Given the description of an element on the screen output the (x, y) to click on. 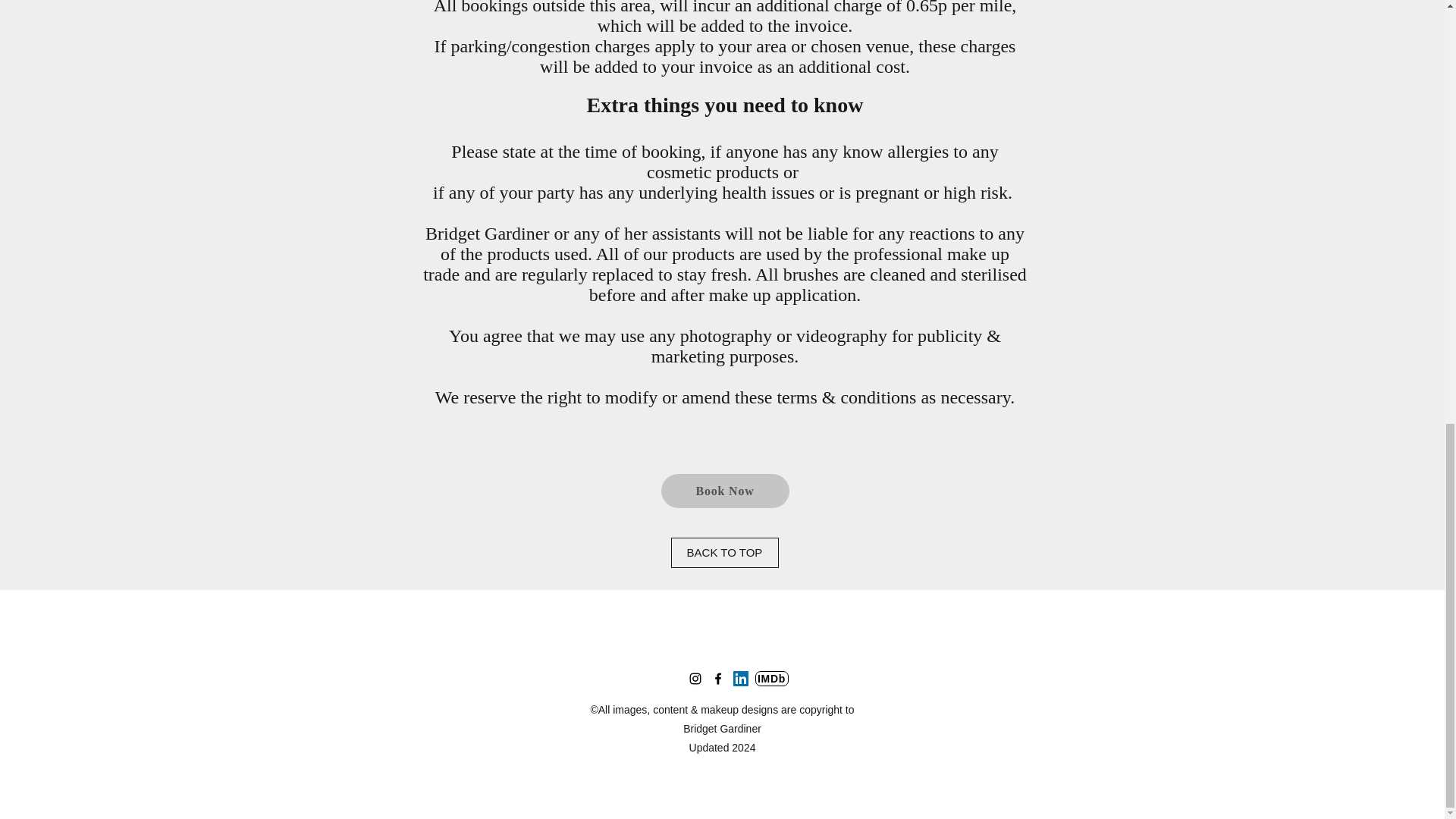
BACK TO TOP (723, 552)
Book Now (725, 490)
IMDb (772, 678)
